Given the description of an element on the screen output the (x, y) to click on. 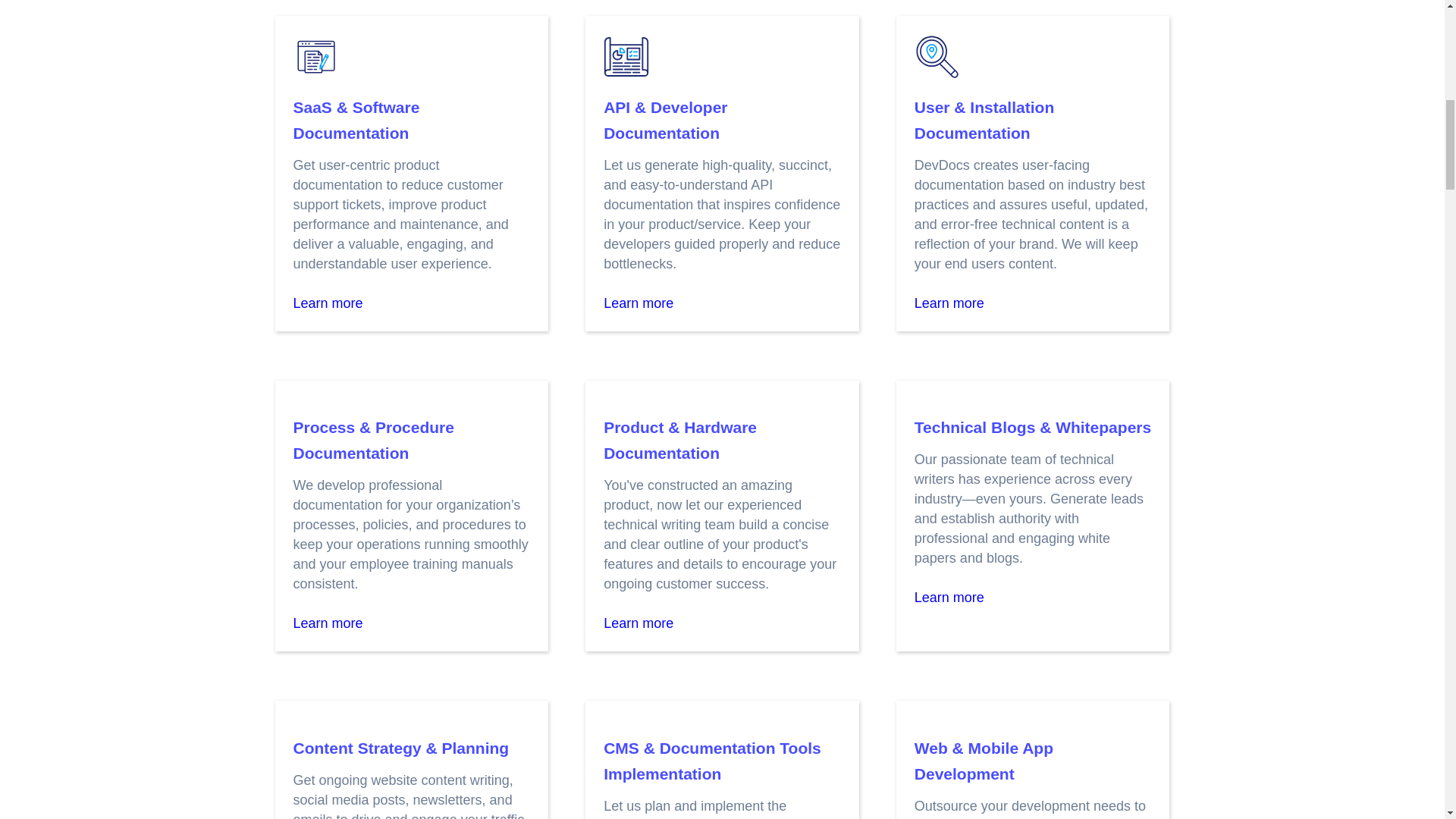
Learn more (949, 303)
Learn more (327, 622)
Learn more (327, 303)
Learn more (638, 303)
